Given the description of an element on the screen output the (x, y) to click on. 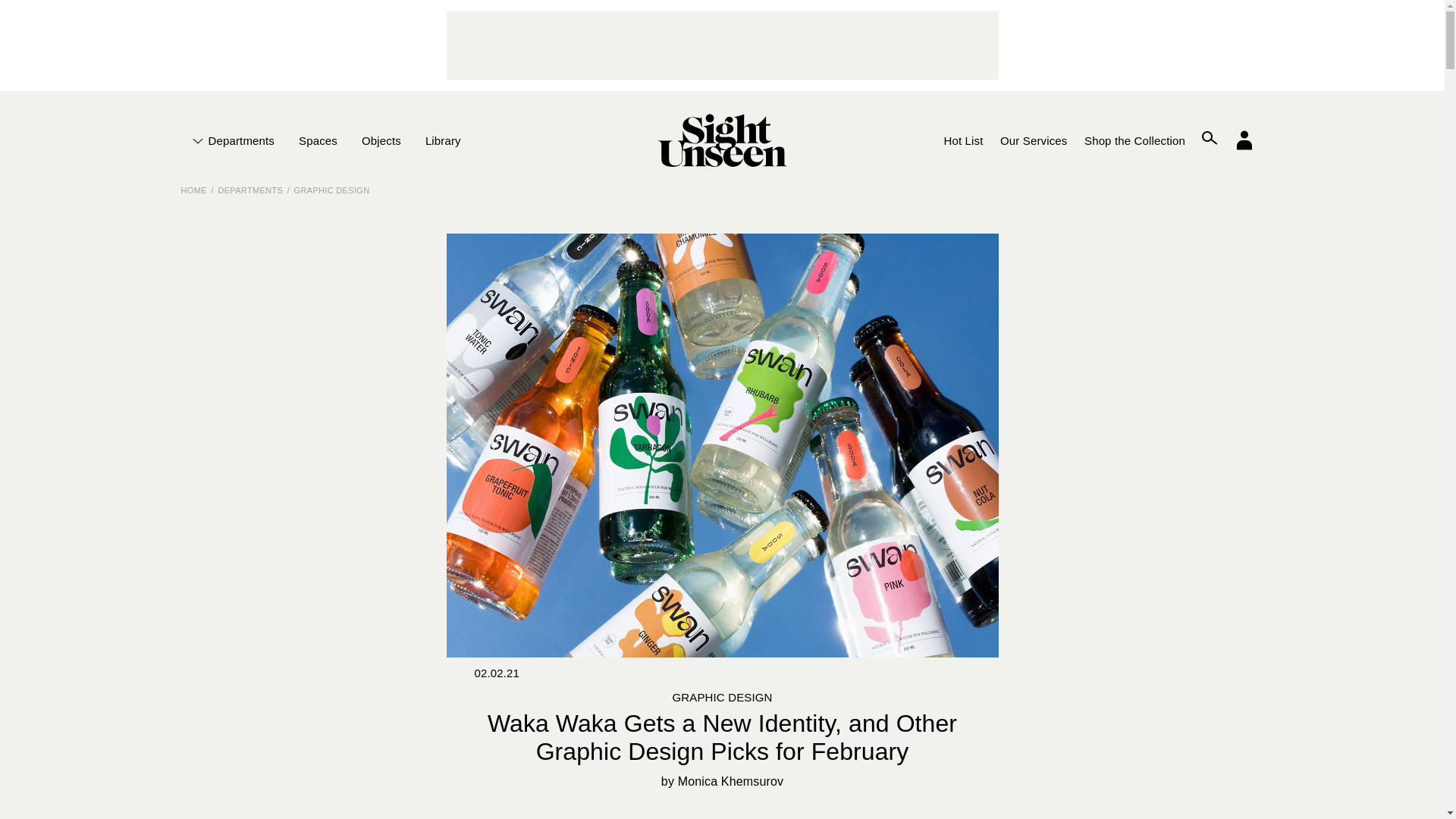
Library (443, 139)
Posts by Monica Khemsurov (731, 780)
Our Services (1033, 140)
Objects (381, 139)
Hot List (962, 140)
Departments (238, 139)
Spaces (317, 139)
Shop the Collection (1134, 140)
